Given the description of an element on the screen output the (x, y) to click on. 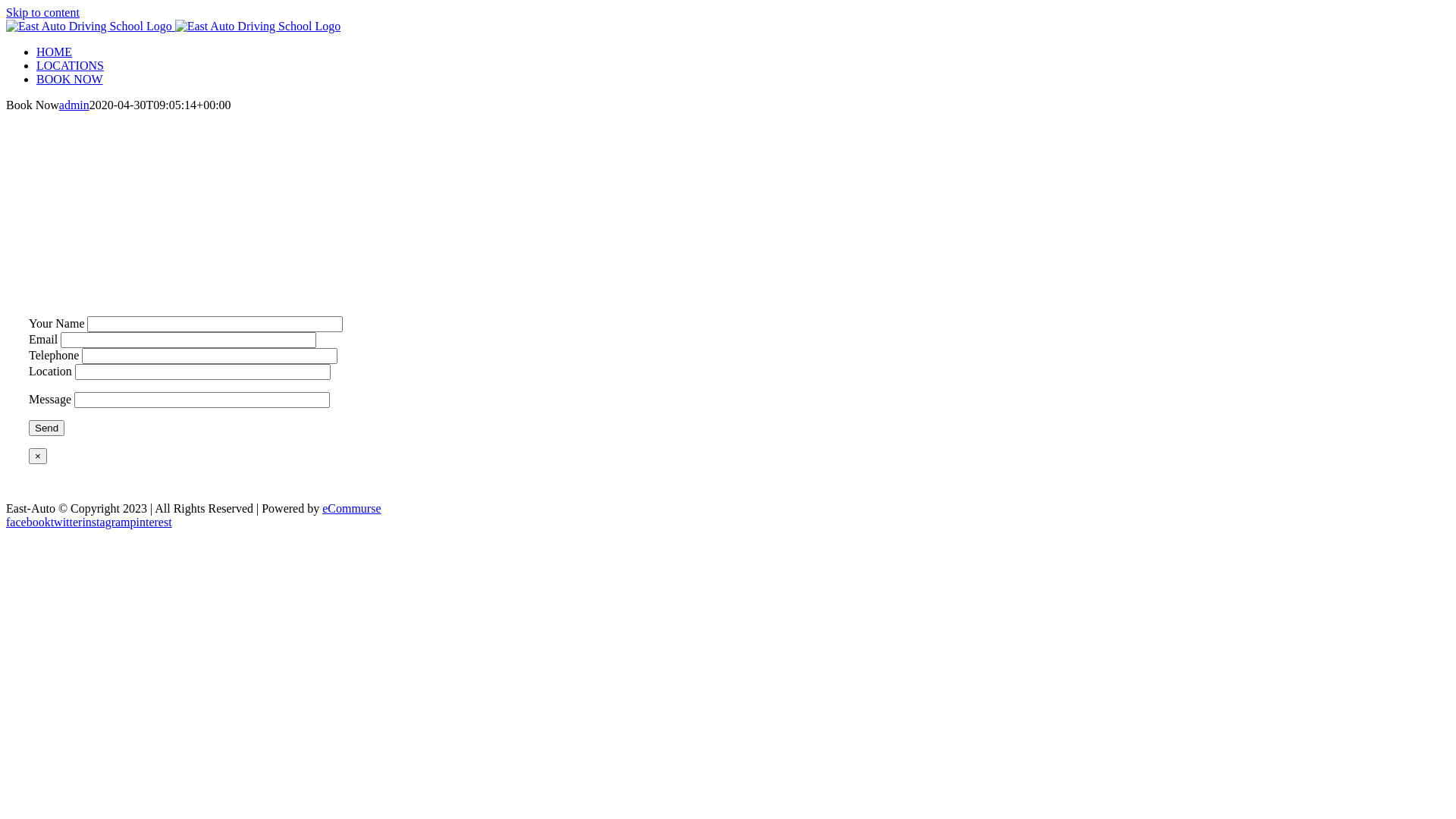
Send Element type: text (46, 428)
pinterest Element type: text (151, 521)
twitter Element type: text (66, 521)
facebook Element type: text (28, 521)
Skip to content Element type: text (42, 12)
LOCATIONS Element type: text (69, 65)
admin Element type: text (74, 104)
HOME Element type: text (54, 51)
instagram Element type: text (105, 521)
BOOK NOW Element type: text (69, 78)
eCommurse Element type: text (351, 508)
